Given the description of an element on the screen output the (x, y) to click on. 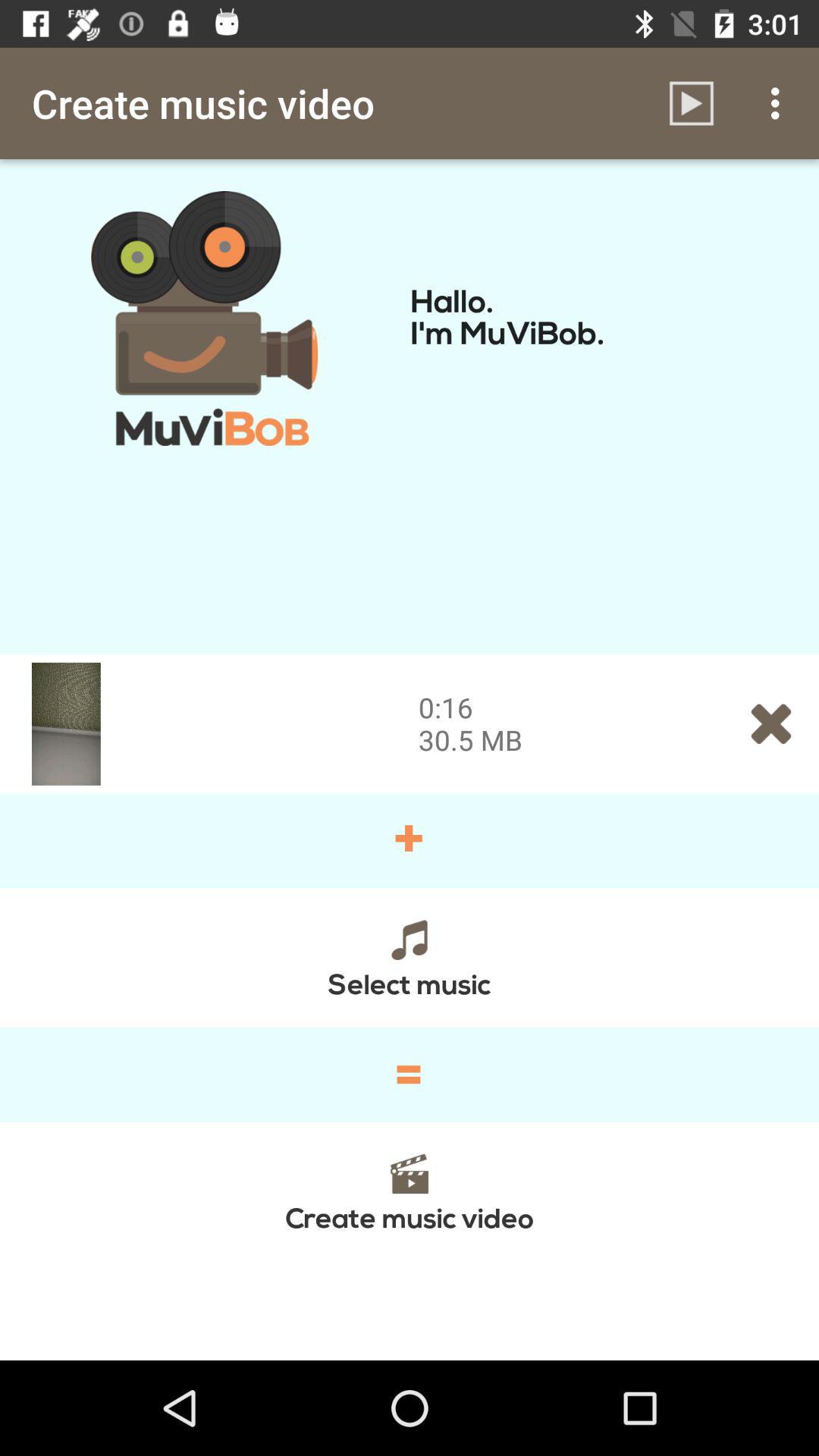
scroll until the select music item (409, 957)
